Given the description of an element on the screen output the (x, y) to click on. 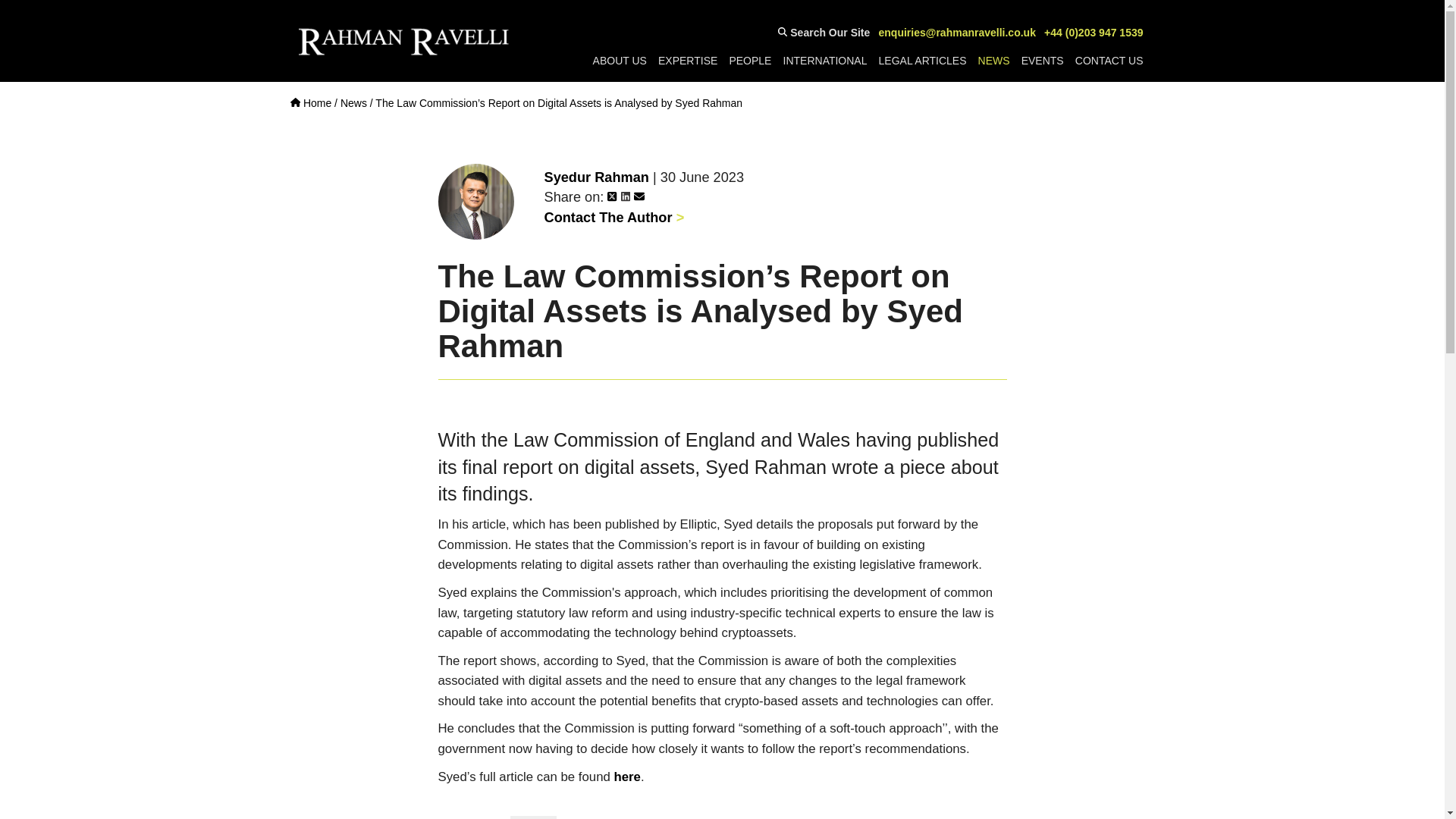
Link to search our site (823, 32)
View Syedur Rahman's Profile (596, 177)
Link to author bio (614, 217)
Rahman Ravelli Solicitors Homepage (310, 102)
